Given the description of an element on the screen output the (x, y) to click on. 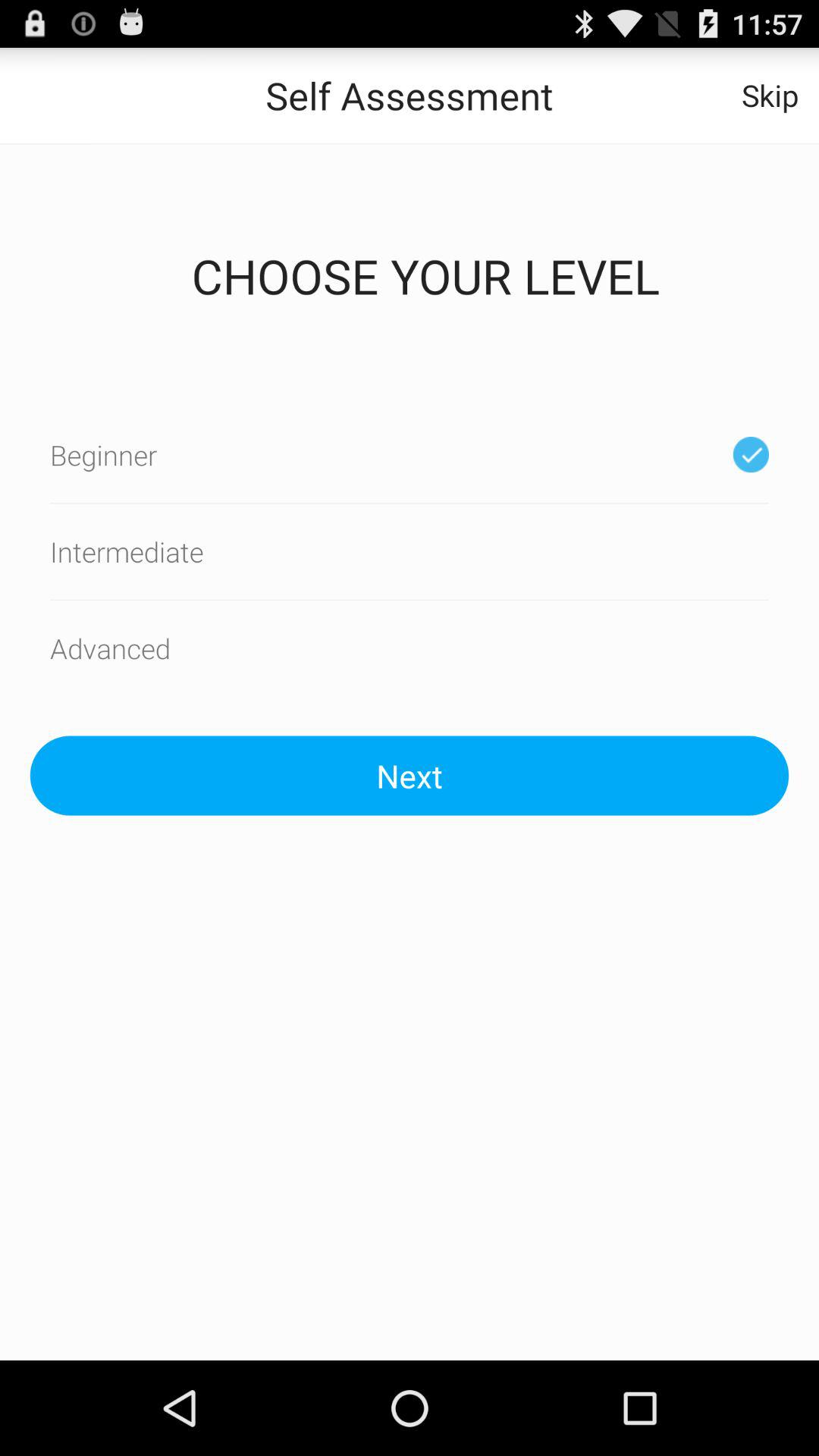
click the app to the right of the self assessment item (770, 95)
